Given the description of an element on the screen output the (x, y) to click on. 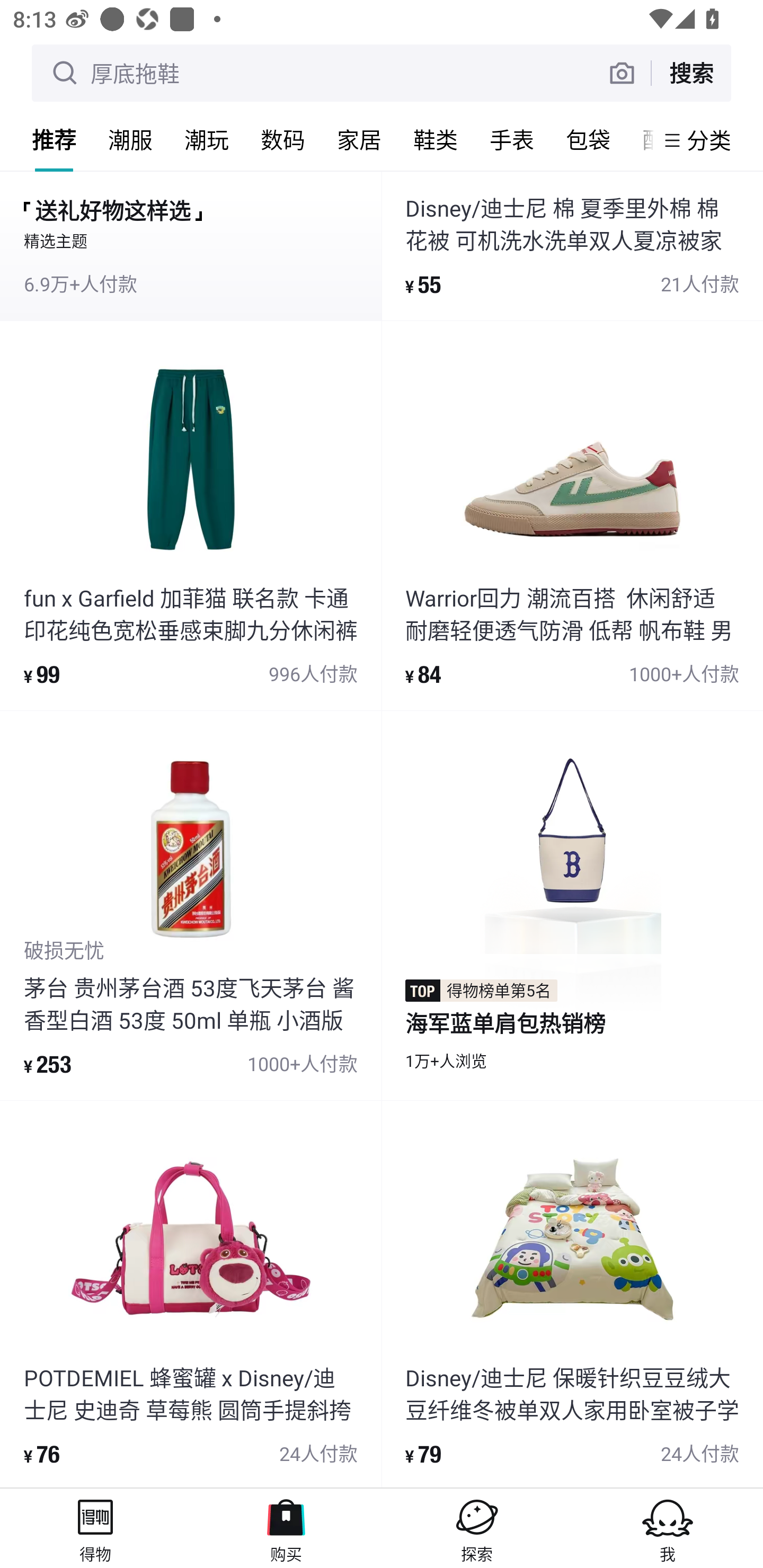
搜索 (690, 72)
推荐 (54, 139)
潮服 (130, 139)
潮玩 (206, 139)
数码 (282, 139)
家居 (359, 139)
鞋类 (435, 139)
手表 (511, 139)
包袋 (588, 139)
分类 (708, 139)
送礼好物这样选 精选主题 6.9万+人付款 (190, 244)
得物榜单第5名 海军蓝单肩包热销榜 1万+人浏览 (572, 905)
得物 (95, 1528)
购买 (285, 1528)
探索 (476, 1528)
我 (667, 1528)
